Given the description of an element on the screen output the (x, y) to click on. 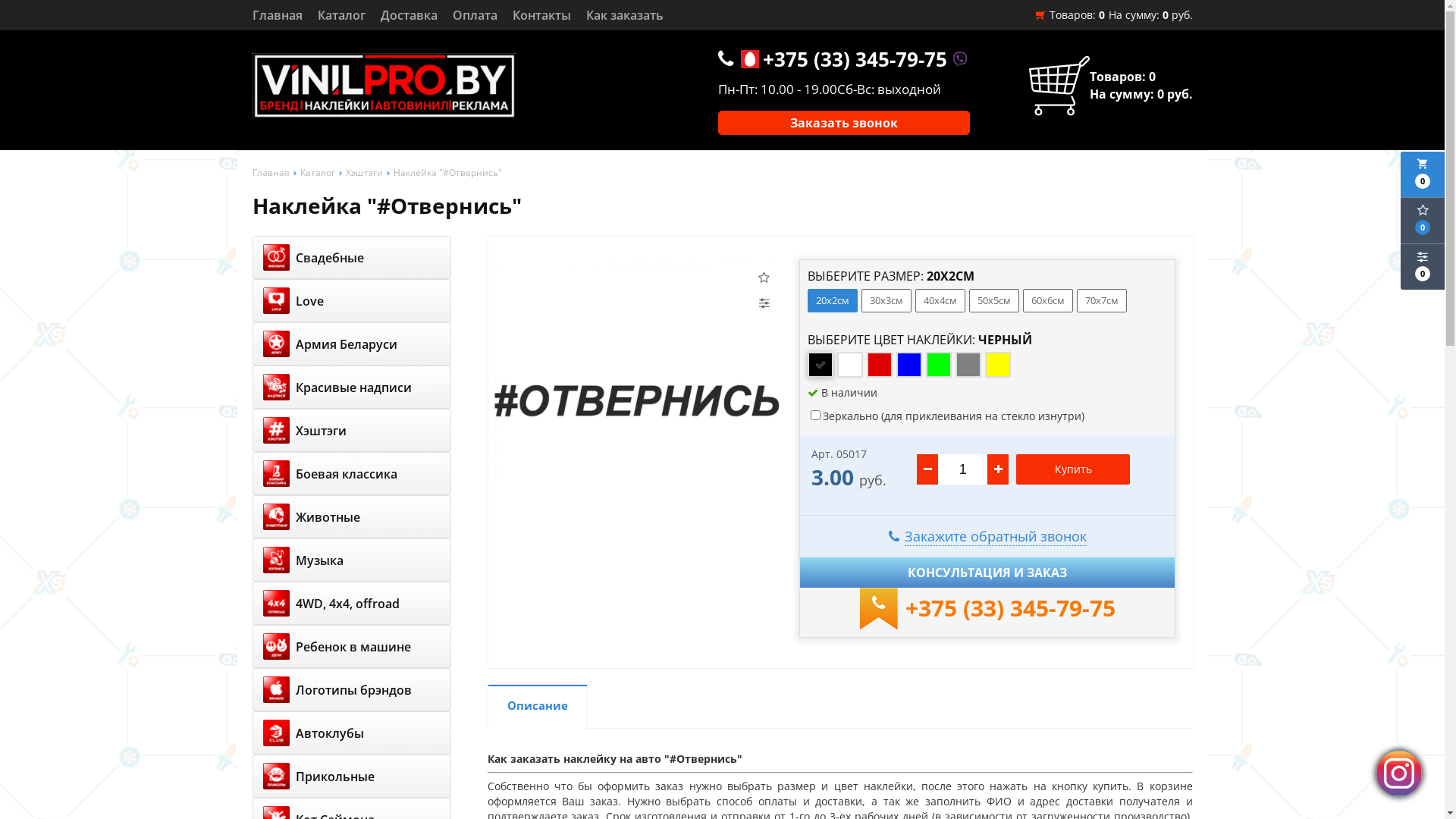
+375 (33) 345-79-75 Element type: text (854, 59)
4WD, 4x4, offroad Element type: text (350, 602)
0 Element type: text (1422, 266)
Love Element type: text (350, 300)
0 Element type: text (1422, 220)
local_grocery_store
0 Element type: text (1422, 174)
+375 (33) 345-79-75 Element type: text (1010, 608)
